Given the description of an element on the screen output the (x, y) to click on. 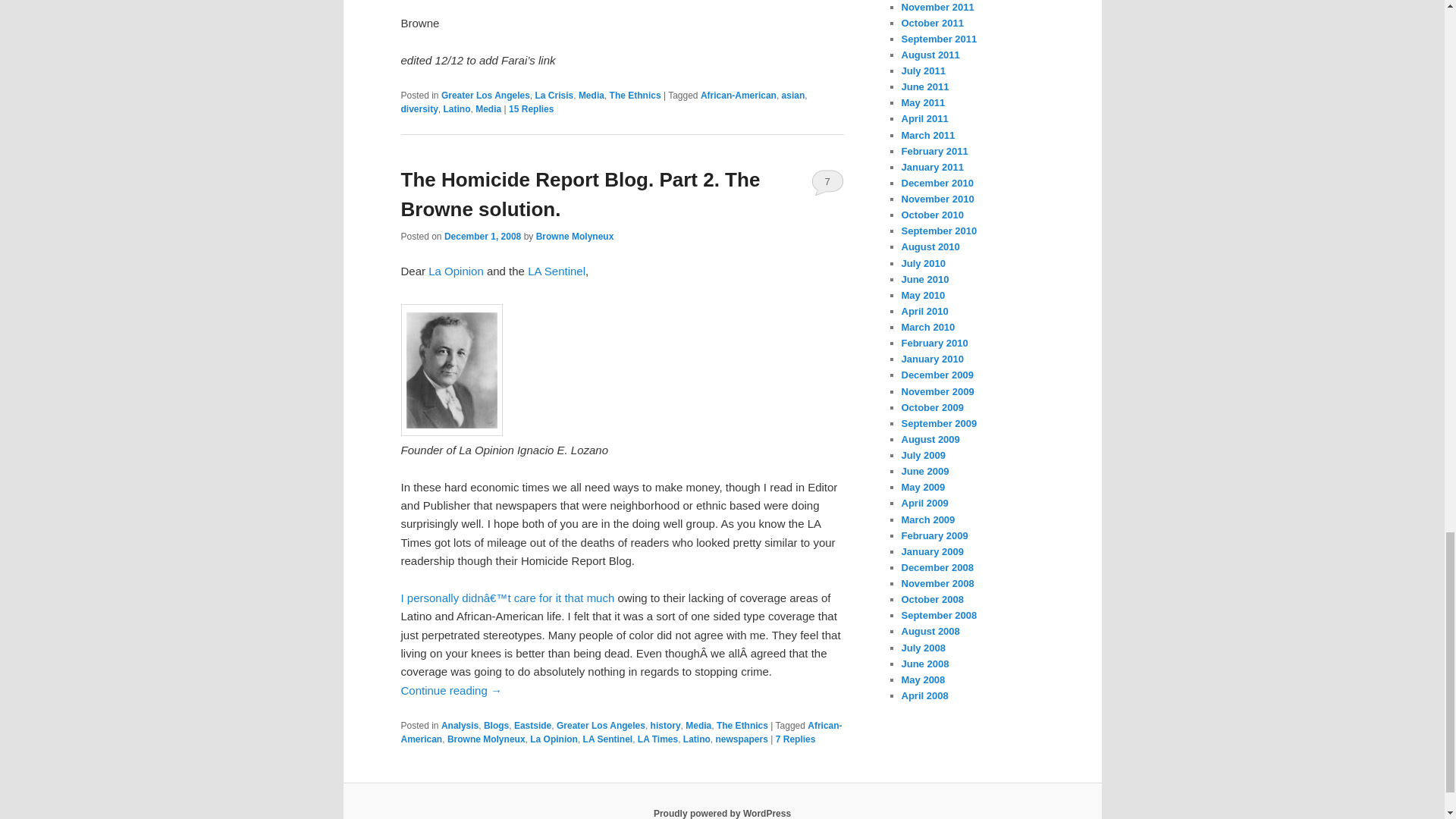
Greater Los Angeles (485, 95)
Semantic Personal Publishing Platform (721, 813)
La Crisis (554, 95)
View all posts by Browne Molyneux (574, 235)
10:08 am (482, 235)
Media (591, 95)
